Given the description of an element on the screen output the (x, y) to click on. 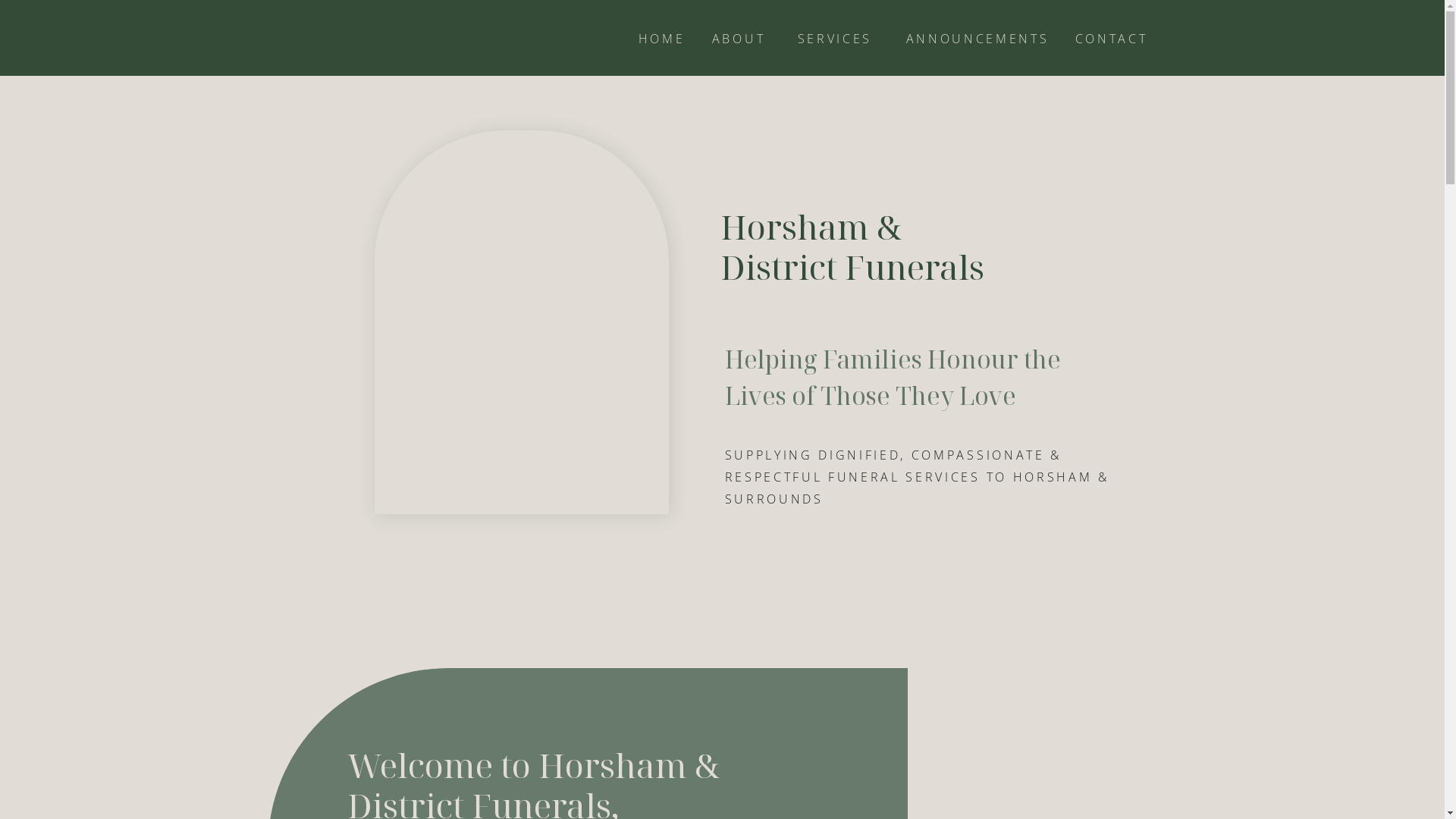
CONTACT Element type: text (1110, 37)
SERVICES Element type: text (831, 37)
ABOUT Element type: text (738, 37)
ANNOUNCEMENTS Element type: text (976, 37)
HOME Element type: text (657, 37)
